Given the description of an element on the screen output the (x, y) to click on. 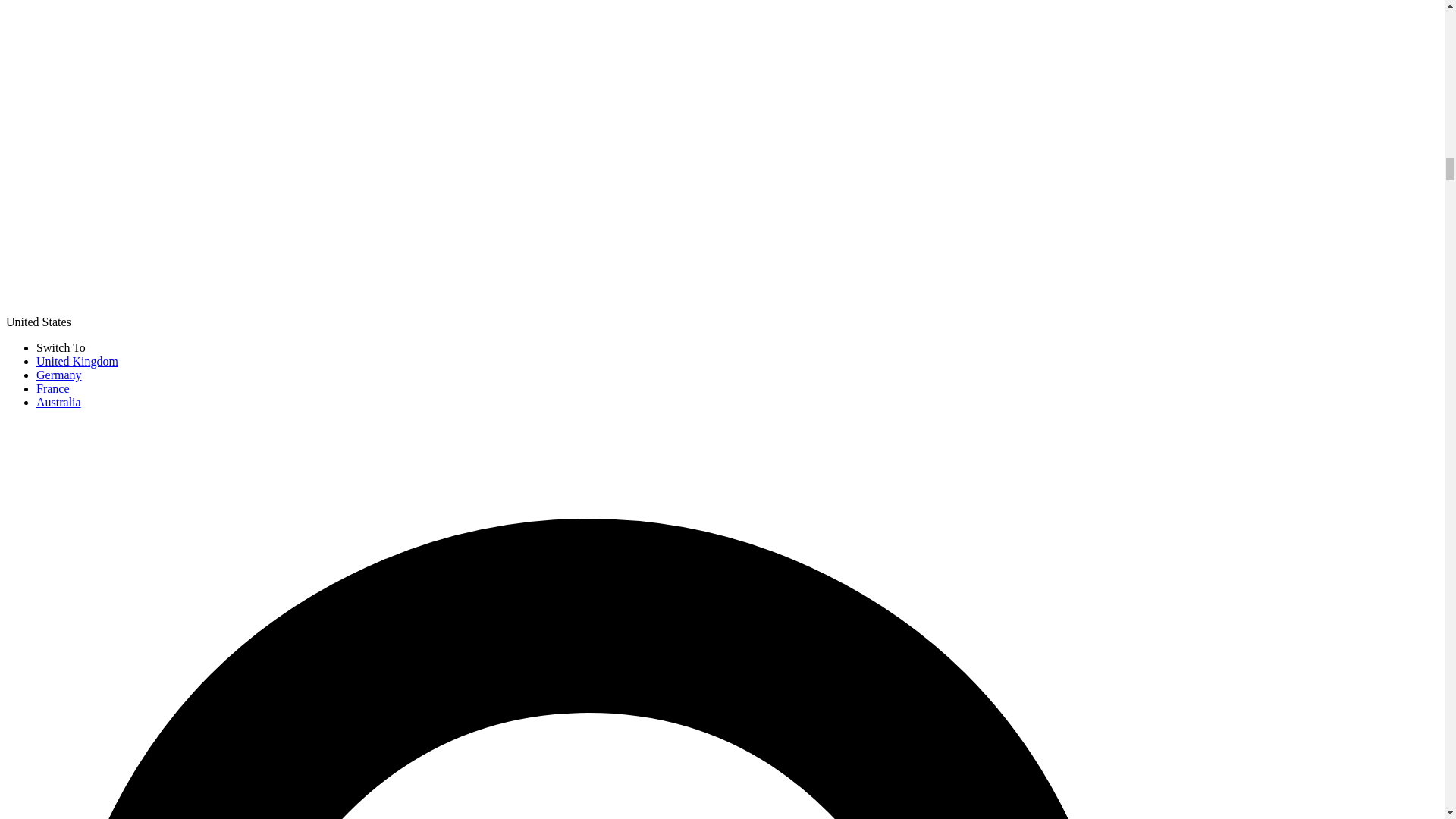
Germany (58, 374)
Australia (58, 401)
United Kingdom (76, 360)
France (52, 388)
